Given the description of an element on the screen output the (x, y) to click on. 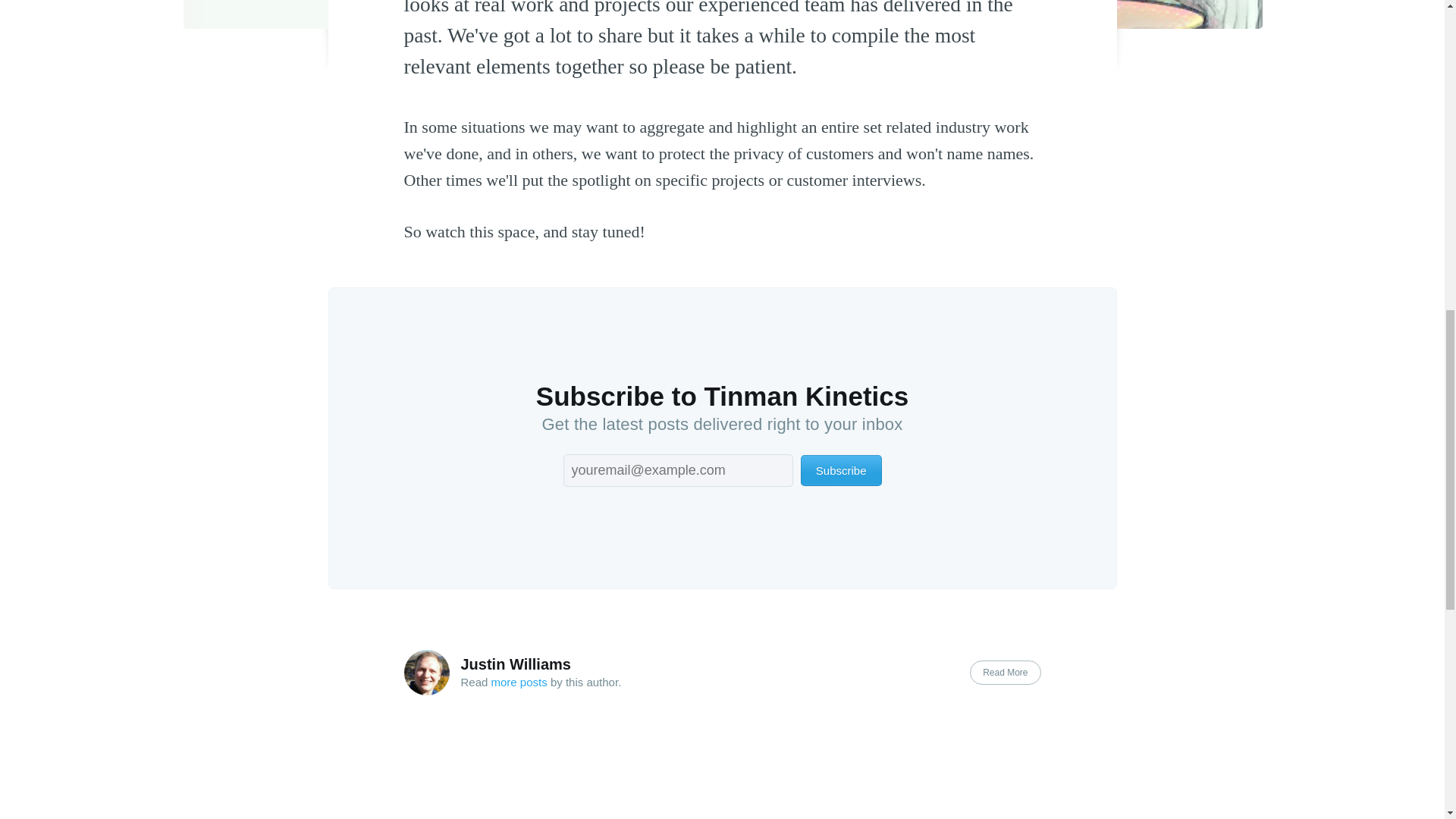
Justin Williams (515, 664)
Subscribe (841, 470)
Read More (1005, 672)
more posts (519, 681)
